Given the description of an element on the screen output the (x, y) to click on. 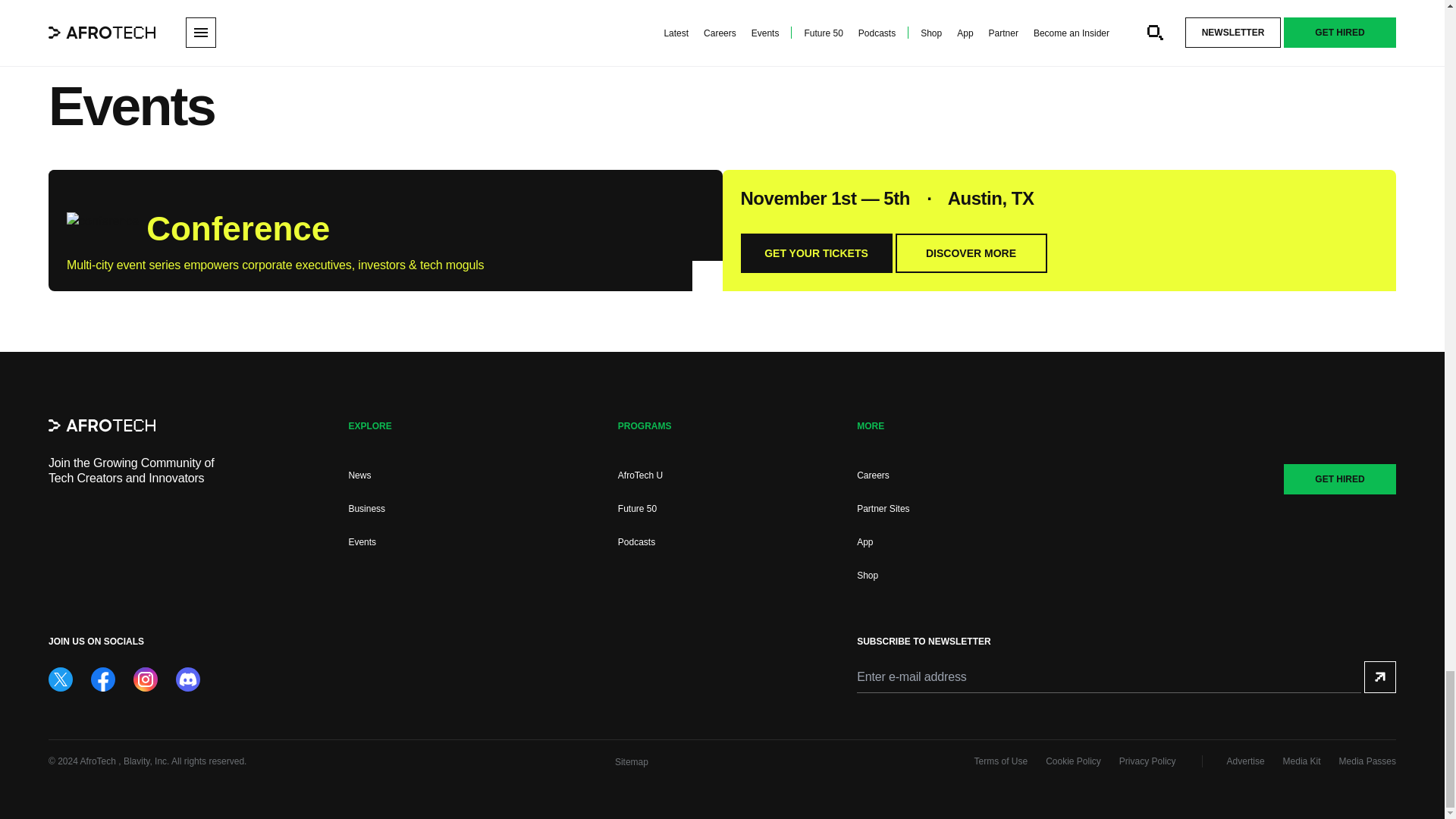
Future 50 (636, 508)
News (359, 475)
AfroTech U (639, 475)
DISCOVER MORE (970, 252)
Podcasts (636, 542)
GET YOUR TICKETS (815, 252)
conference (102, 225)
Business (366, 508)
Events (361, 542)
Careers (873, 475)
